Given the description of an element on the screen output the (x, y) to click on. 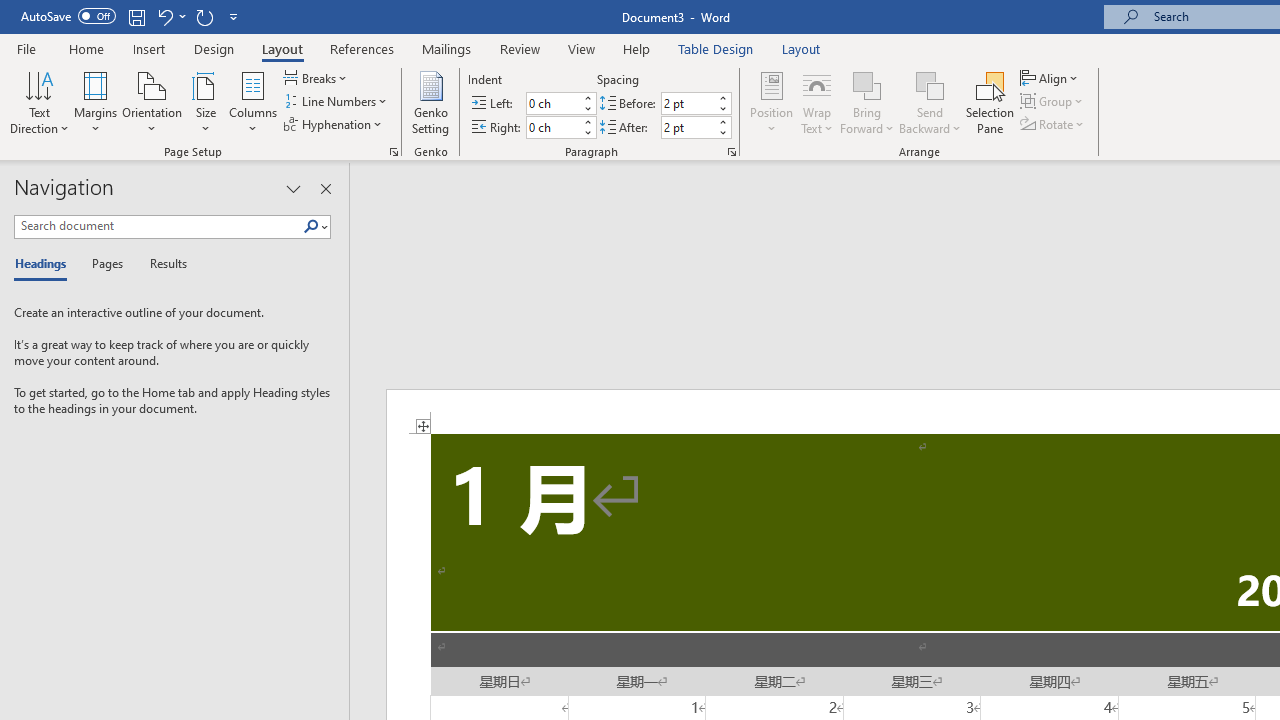
Orientation (152, 102)
Size (205, 102)
Indent Right (552, 127)
Undo Increase Indent (170, 15)
Search document (157, 226)
Position (771, 102)
Less (722, 132)
More (722, 121)
Text Direction (39, 102)
Indent Left (552, 103)
Headings (45, 264)
